Given the description of an element on the screen output the (x, y) to click on. 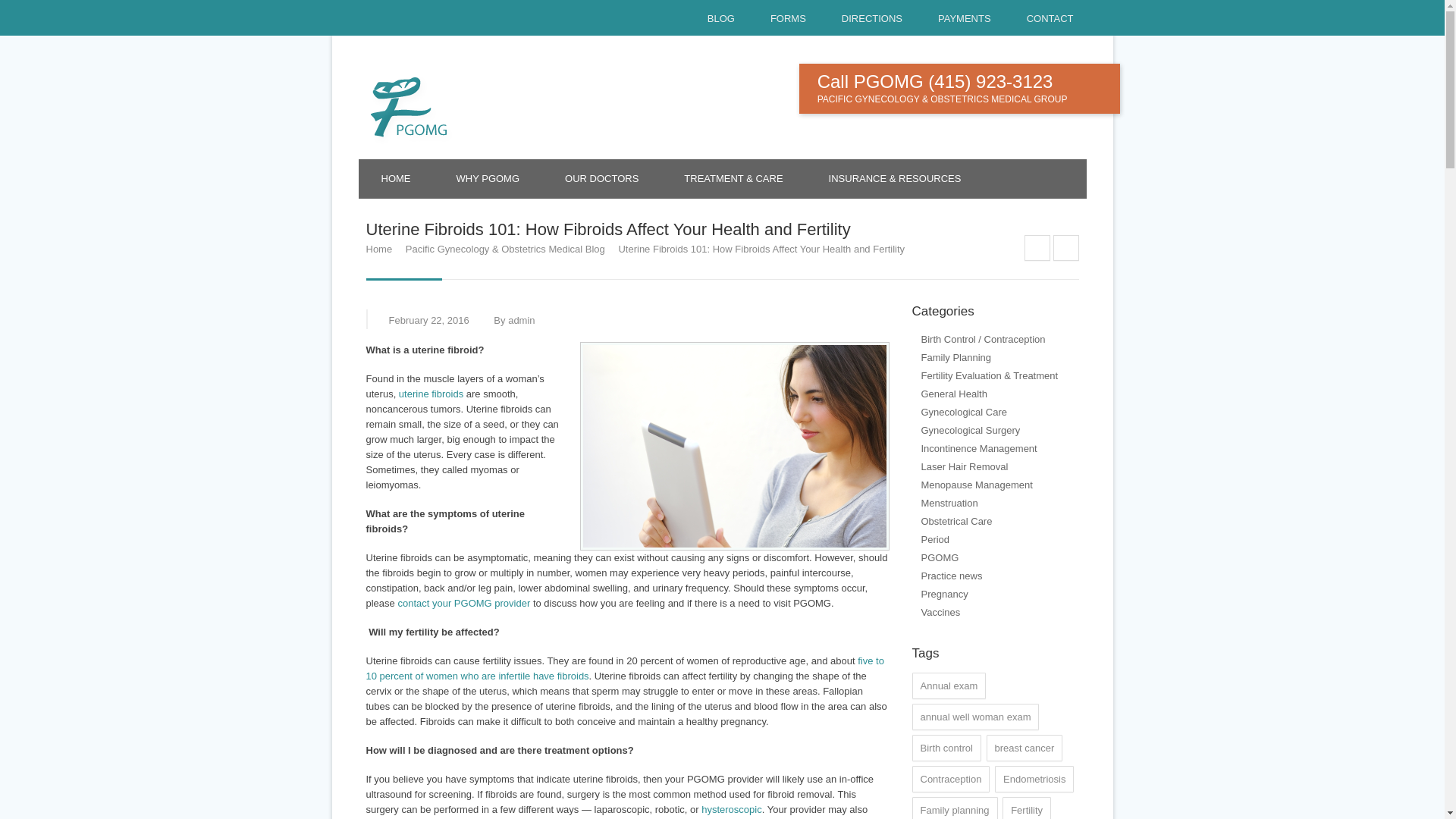
3:49 pm (428, 319)
CONTACT (1042, 22)
OUR DOCTORS (601, 178)
HOME (395, 178)
DIRECTIONS (864, 22)
WHY PGOMG (488, 178)
BLOG (713, 22)
FORMS (781, 22)
PAYMENTS (956, 22)
